Given the description of an element on the screen output the (x, y) to click on. 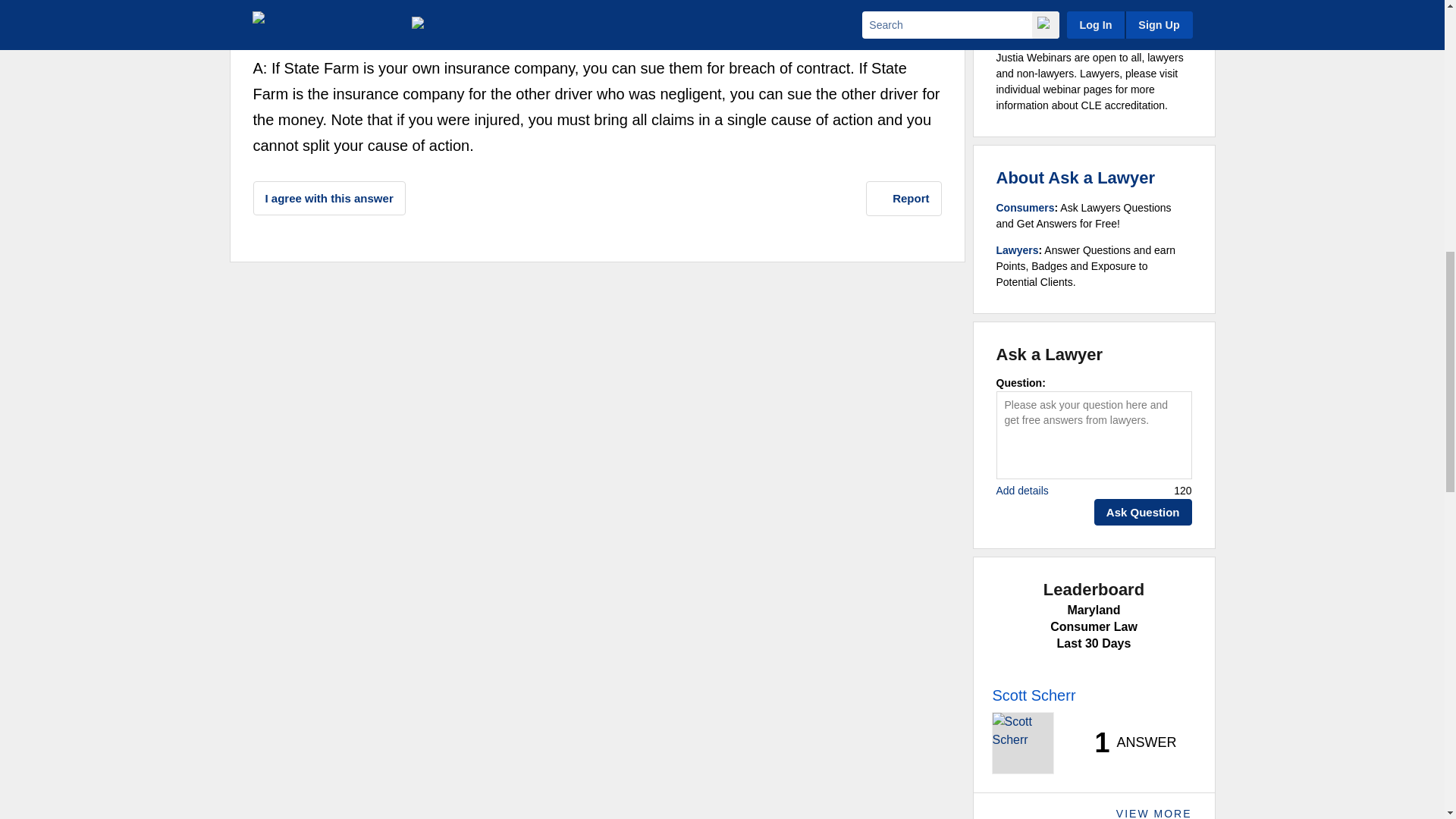
Ask a Lawyer - FAQs - Consumers (1024, 207)
Ask a Lawyer - Leaderboard - Lawyer Stats (1127, 742)
Ask a Lawyer - FAQs - Lawyers (1017, 250)
Ask a Lawyer - Leaderboard - Lawyer Name (1033, 694)
Scott Scherr (313, 16)
Ask a Lawyer - Leaderboard - Lawyer Photo (1021, 742)
